Given the description of an element on the screen output the (x, y) to click on. 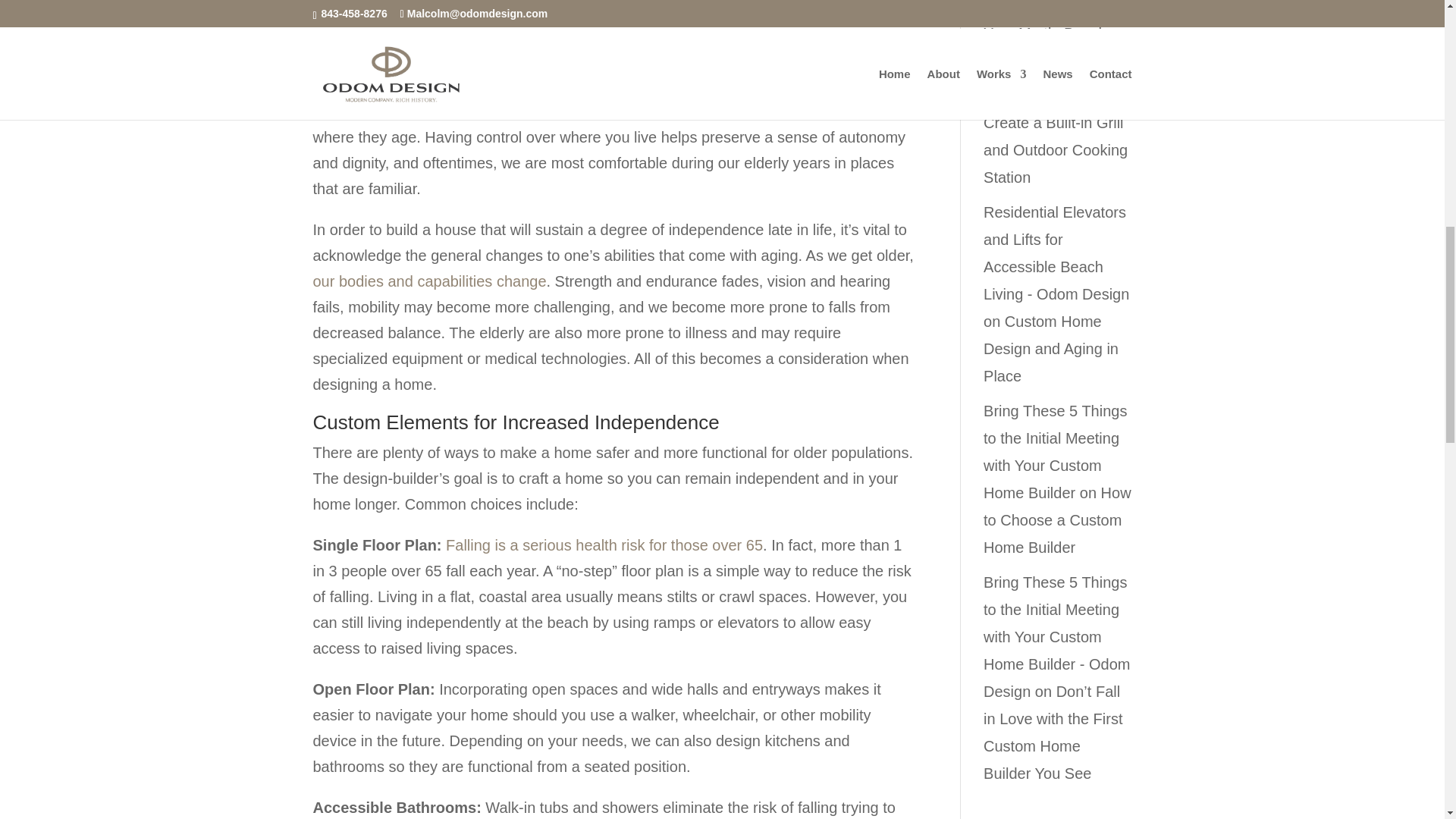
How to Choose a Custom Home Builder (1057, 520)
Custom Home Design and Aging in Place (1051, 348)
Cecily Podell (1027, 95)
Falling is a serious health risk for those over 65 (603, 545)
Create a Built-in Grill and Outdoor Cooking Station (1055, 149)
our bodies and capabilities change (429, 280)
